Given the description of an element on the screen output the (x, y) to click on. 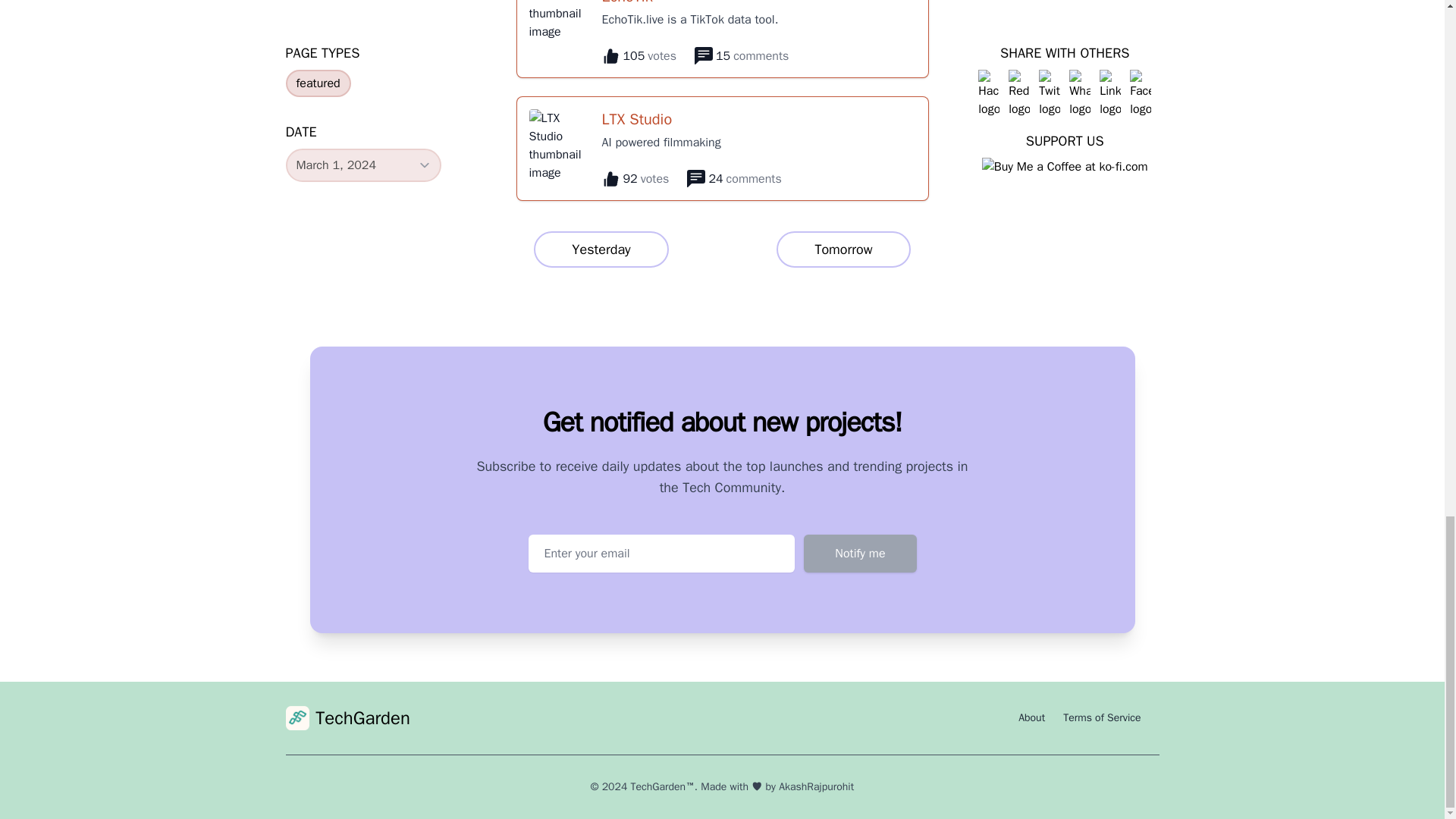
Tomorrow (843, 248)
Terms of Service (722, 148)
About (1101, 717)
Notify me (1031, 717)
AkashRajpurohit (859, 553)
Yesterday (815, 786)
TechGarden (601, 248)
